Given the description of an element on the screen output the (x, y) to click on. 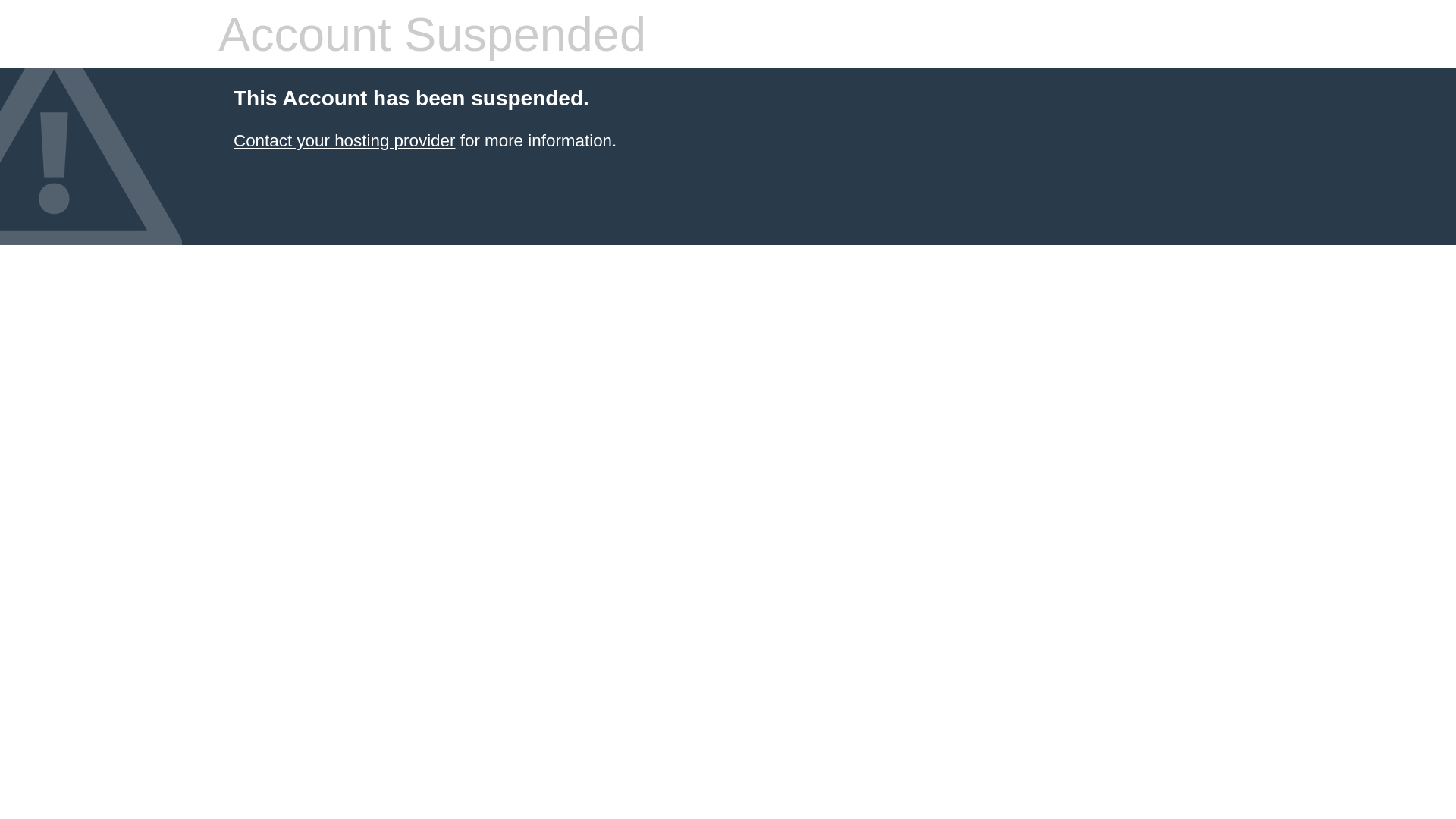
Contact your hosting provider Element type: text (344, 140)
